Given the description of an element on the screen output the (x, y) to click on. 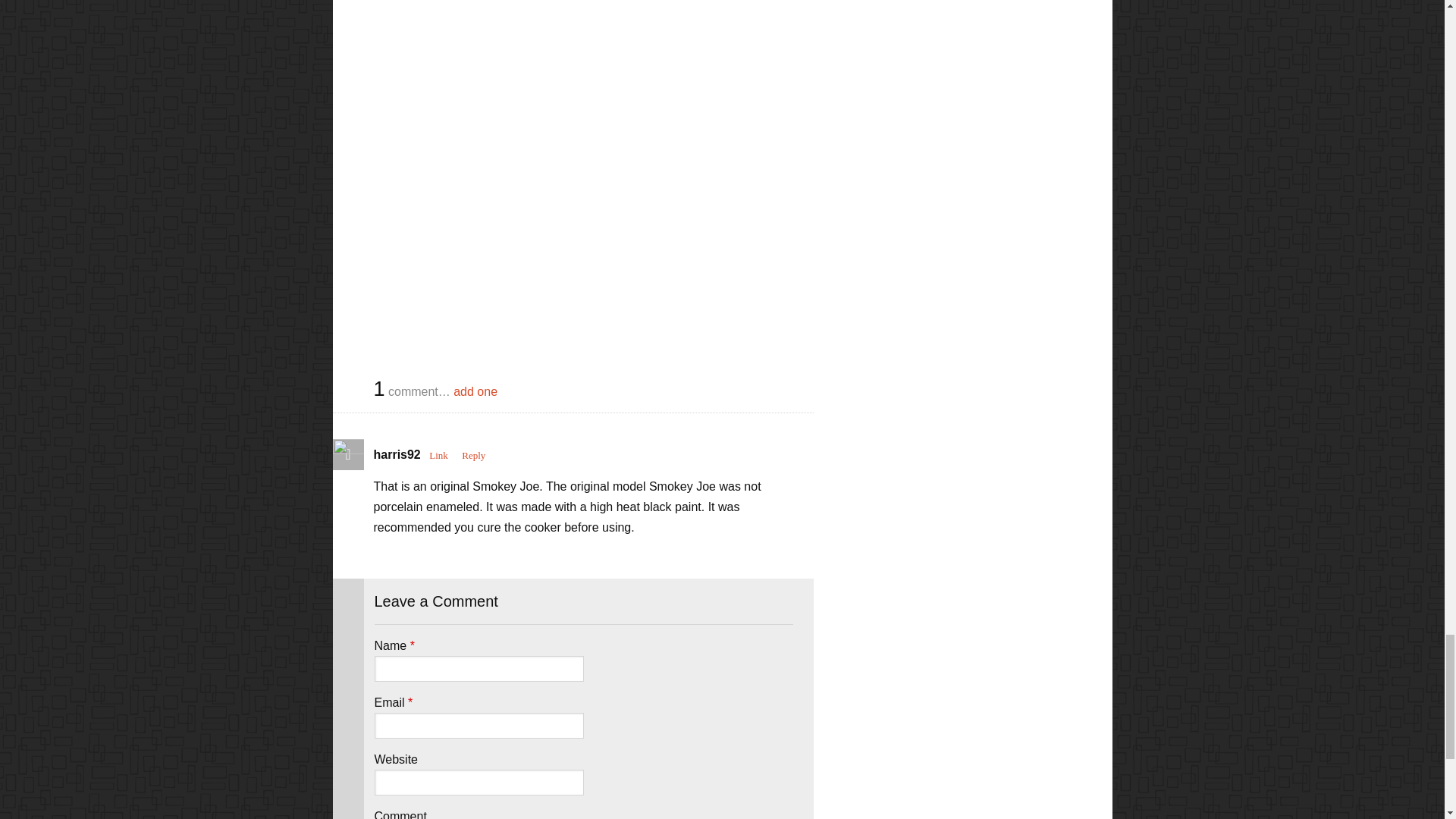
permalink to this comment (437, 455)
Reply (473, 455)
Link (437, 455)
add one (474, 391)
